Given the description of an element on the screen output the (x, y) to click on. 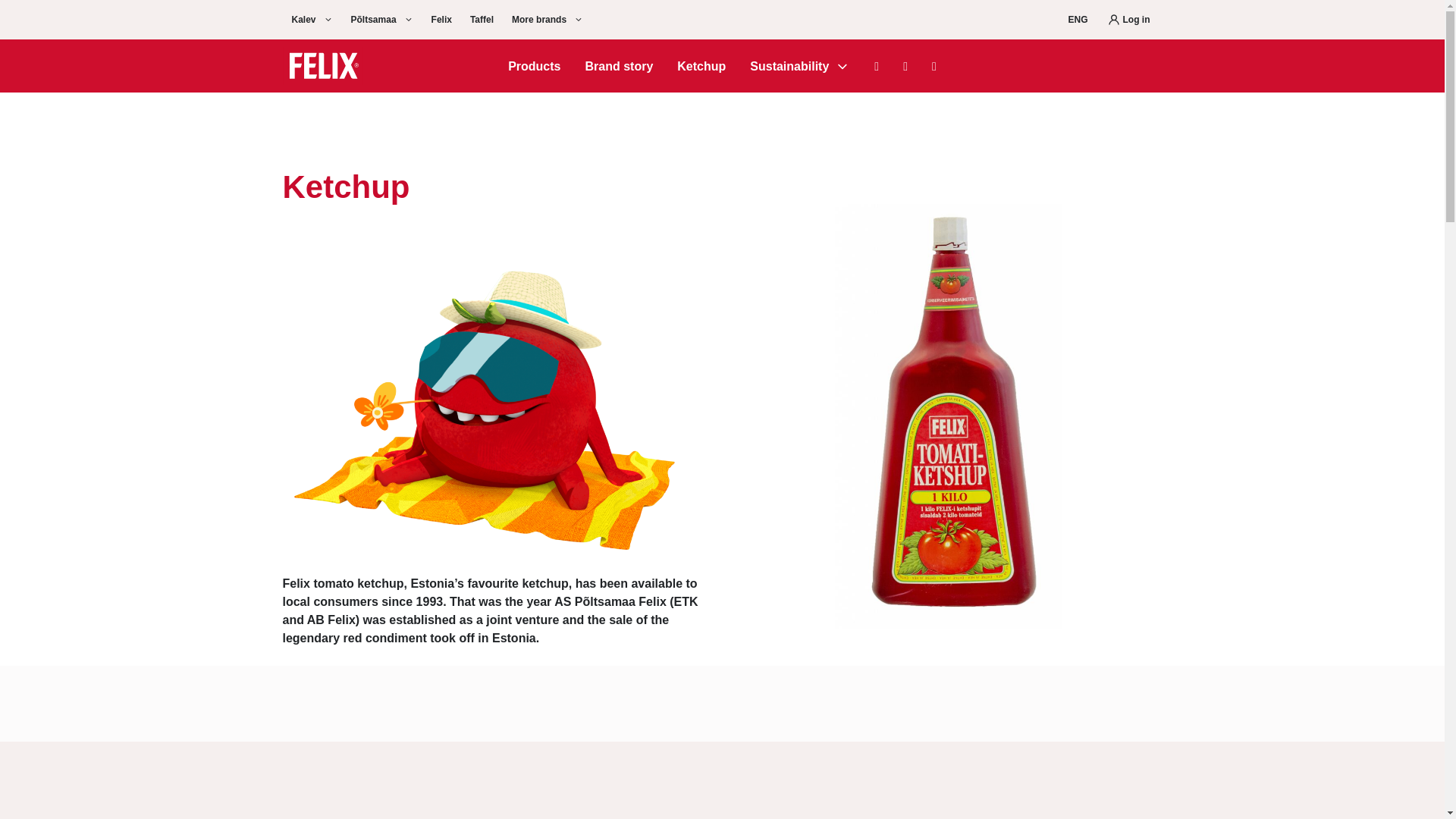
logo (322, 65)
Felix (441, 19)
Kalev (311, 19)
More brands (547, 19)
Taffel (481, 19)
